Given the description of an element on the screen output the (x, y) to click on. 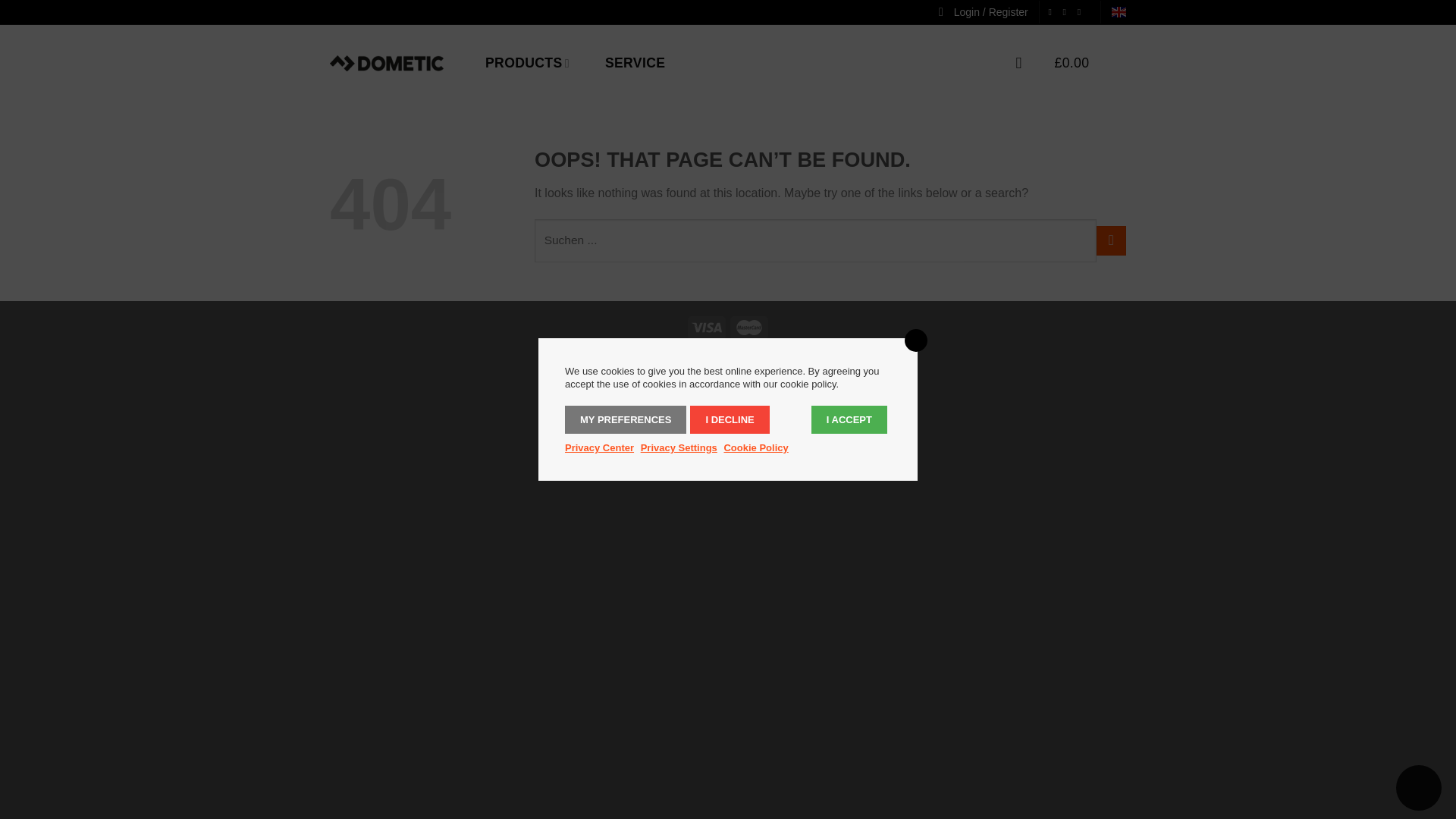
Basket (1089, 62)
PRODUCTS (526, 62)
Dometic UK Shop (387, 62)
